Given the description of an element on the screen output the (x, y) to click on. 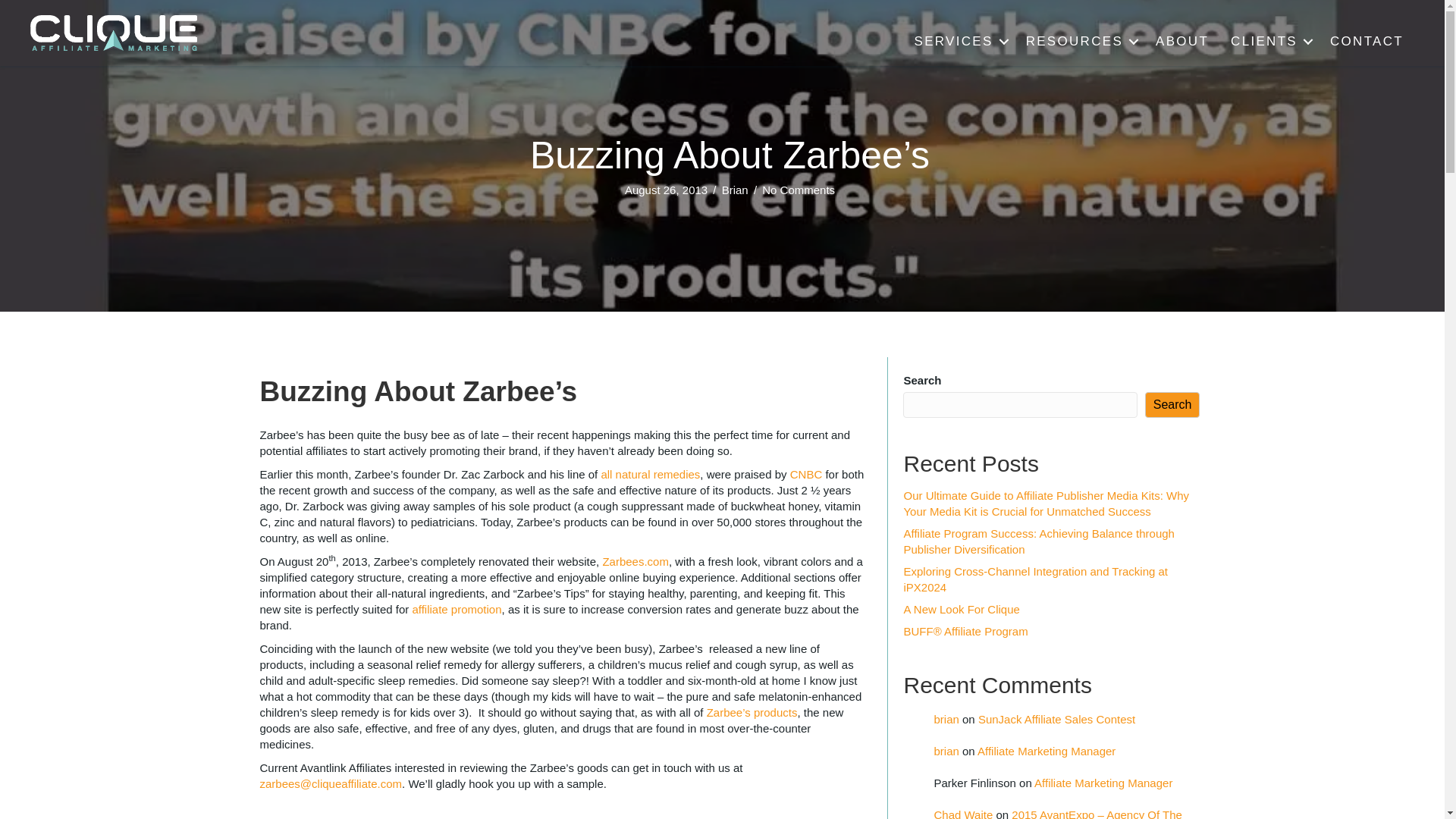
SERVICES (959, 41)
Clique logo white2 (113, 32)
RESOURCES (1079, 41)
CONTACT (1366, 41)
ABOUT (1182, 41)
CLIENTS (1269, 41)
